Given the description of an element on the screen output the (x, y) to click on. 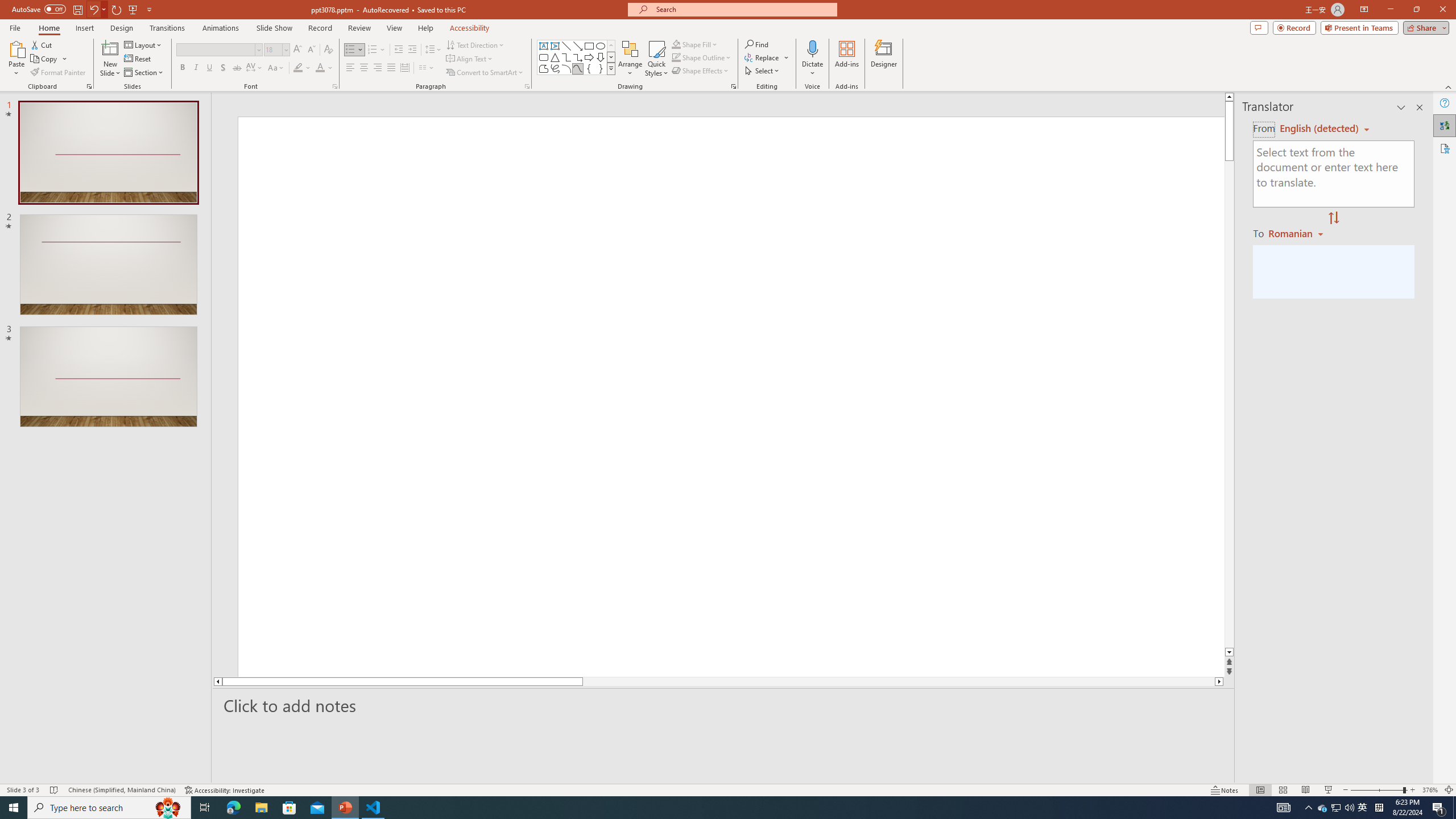
Czech (detected) (1319, 128)
